Given the description of an element on the screen output the (x, y) to click on. 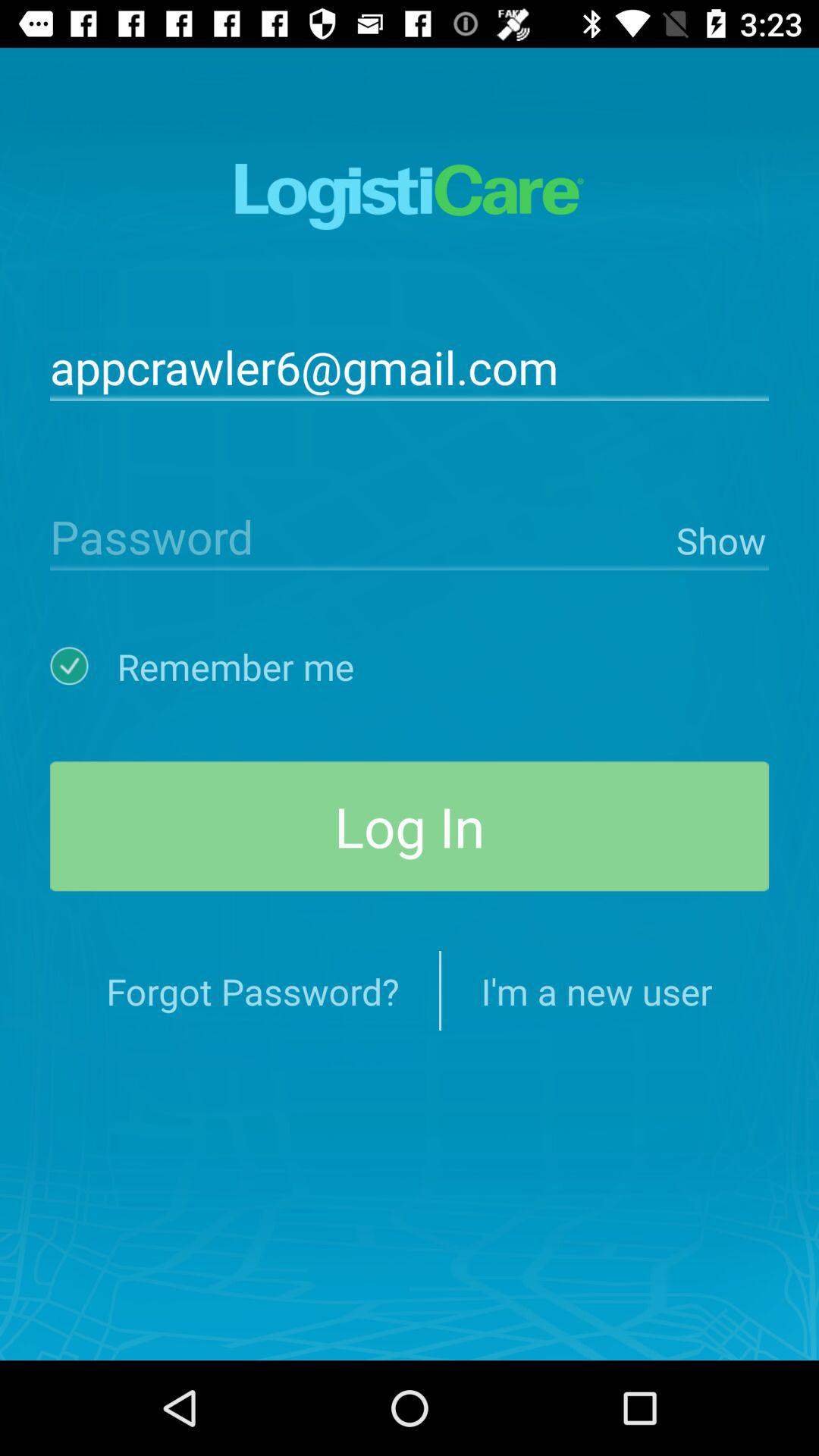
select appcrawler6@gmail.com icon (409, 365)
